Given the description of an element on the screen output the (x, y) to click on. 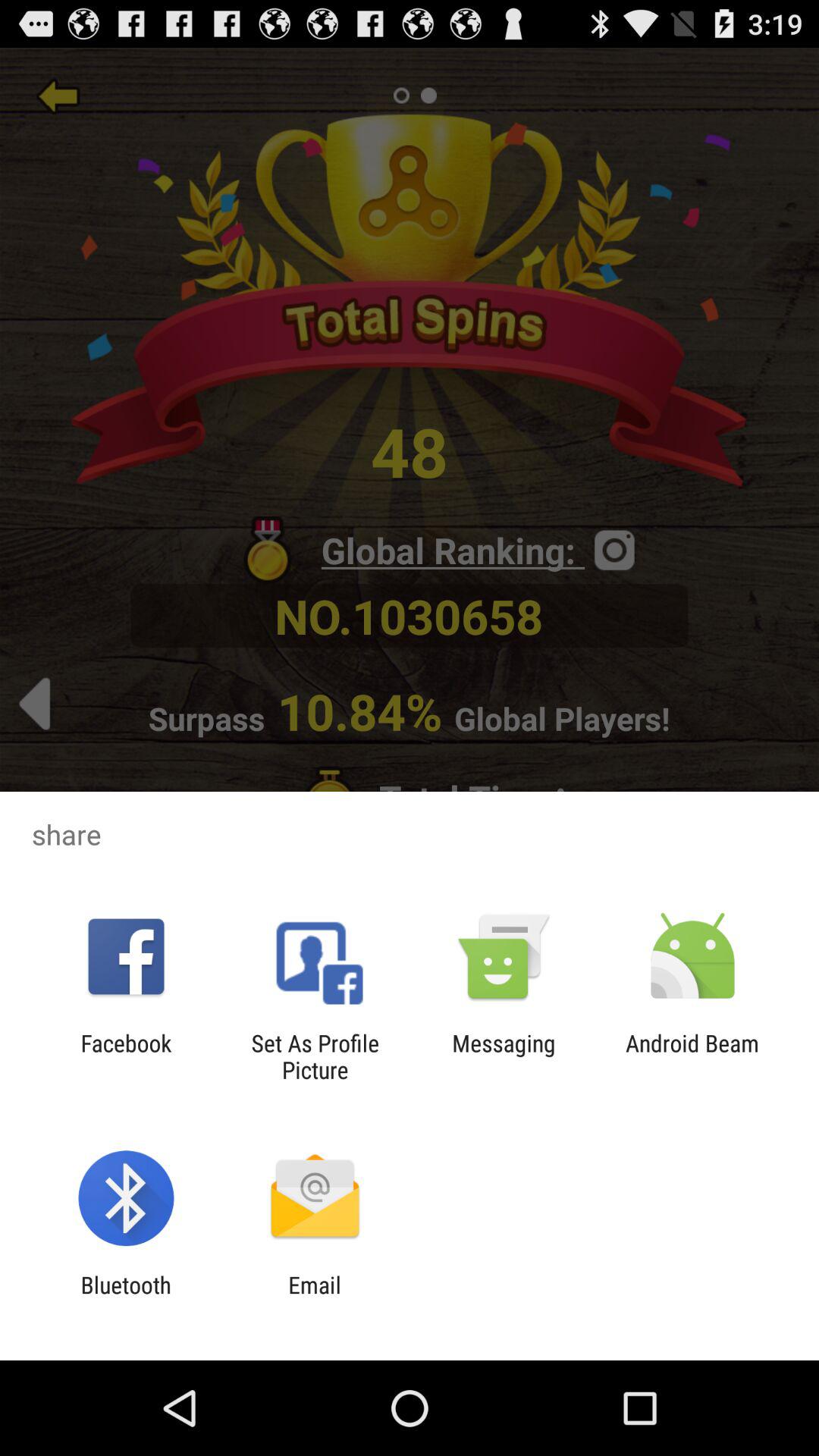
tap icon to the right of the facebook icon (314, 1056)
